Given the description of an element on the screen output the (x, y) to click on. 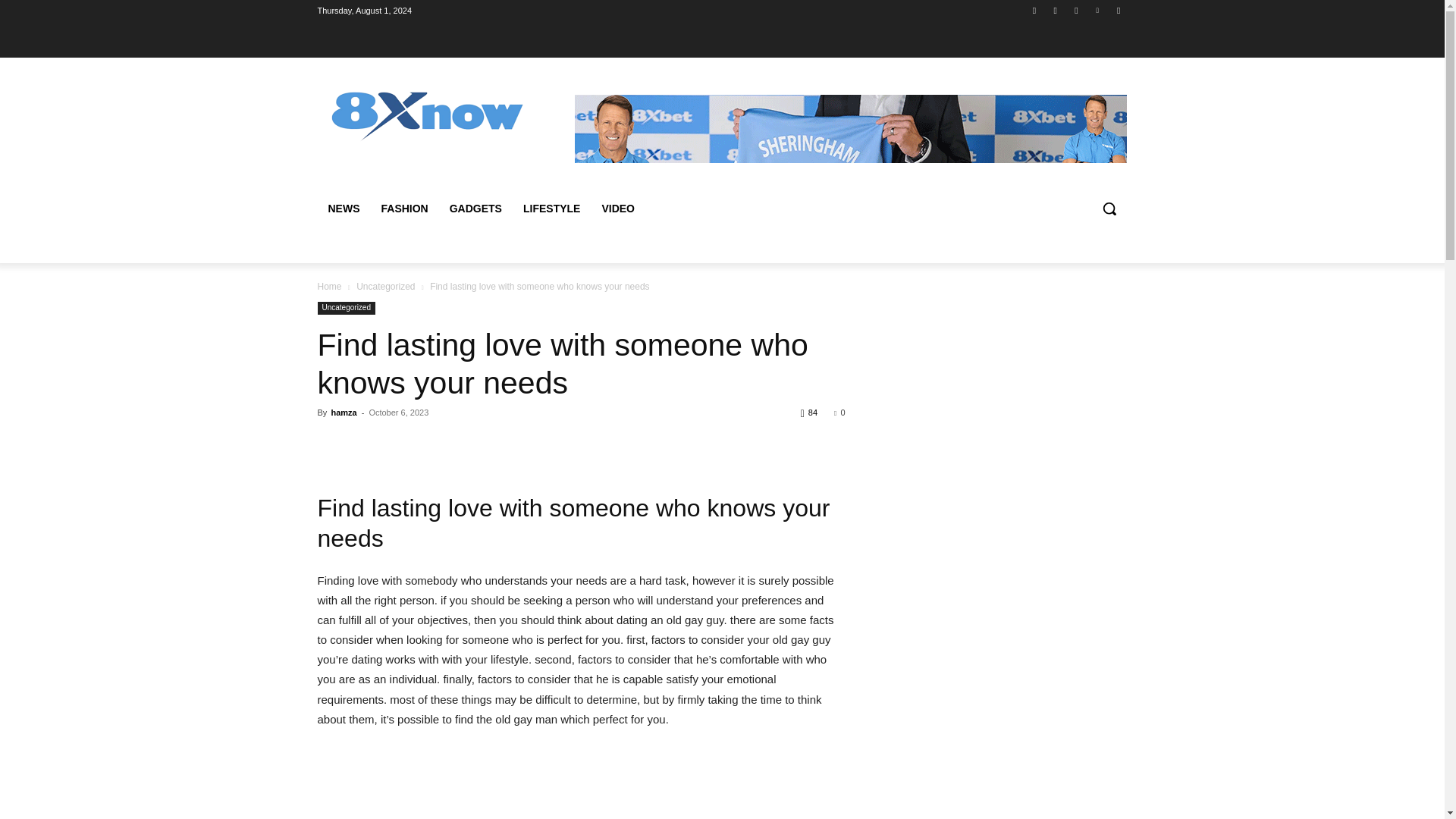
TikTok (1075, 9)
VIDEO (618, 208)
Twitter (1097, 9)
FASHION (403, 208)
Youtube (1117, 9)
NEWS (343, 208)
Instagram (1055, 9)
Facebook (1034, 9)
GADGETS (475, 208)
LIFESTYLE (551, 208)
